Given the description of an element on the screen output the (x, y) to click on. 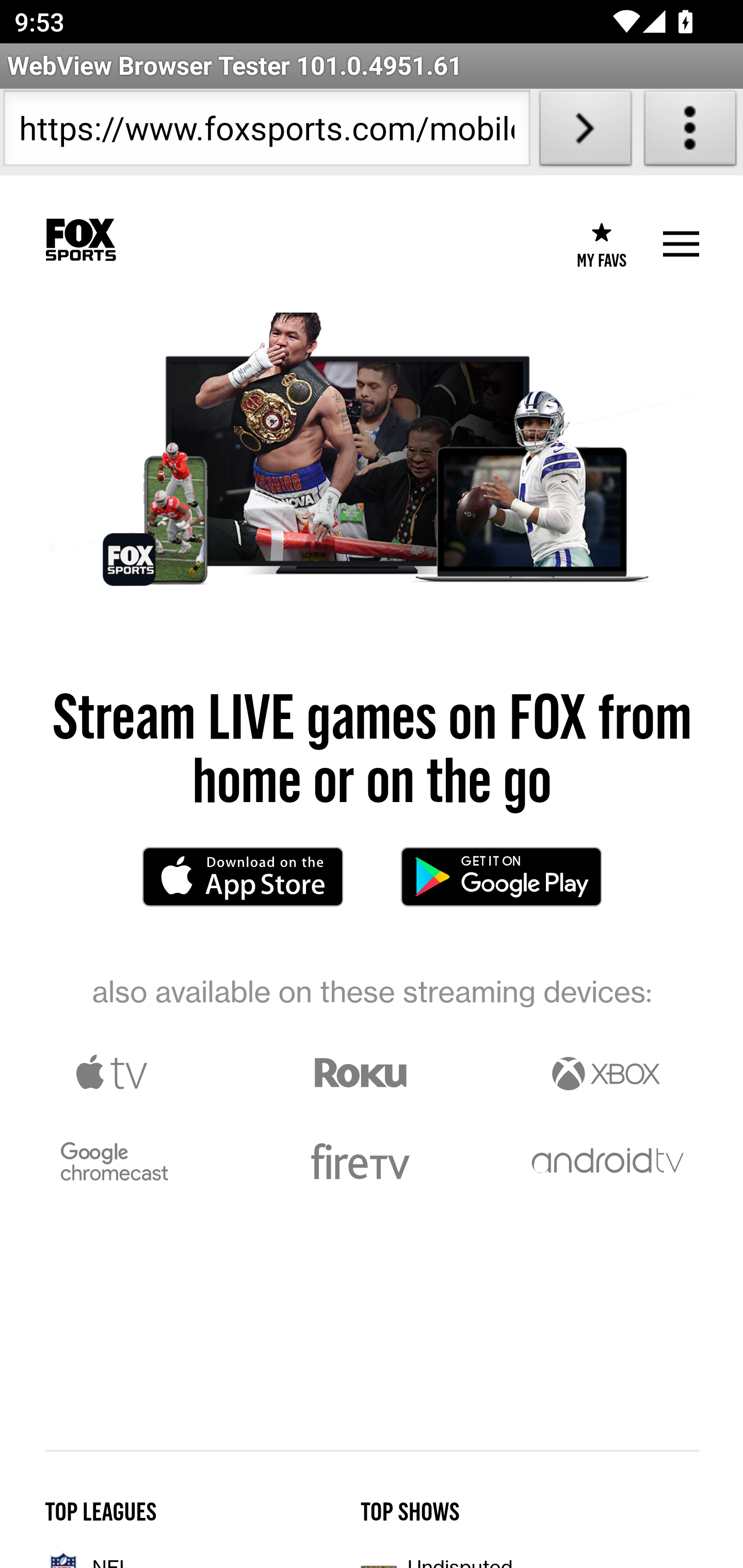
https://www.foxsports.com/mobile (266, 132)
Load URL (585, 132)
About WebView (690, 132)
Home Page Link (80, 240)
details?id=com.foxsports (500, 876)
